Given the description of an element on the screen output the (x, y) to click on. 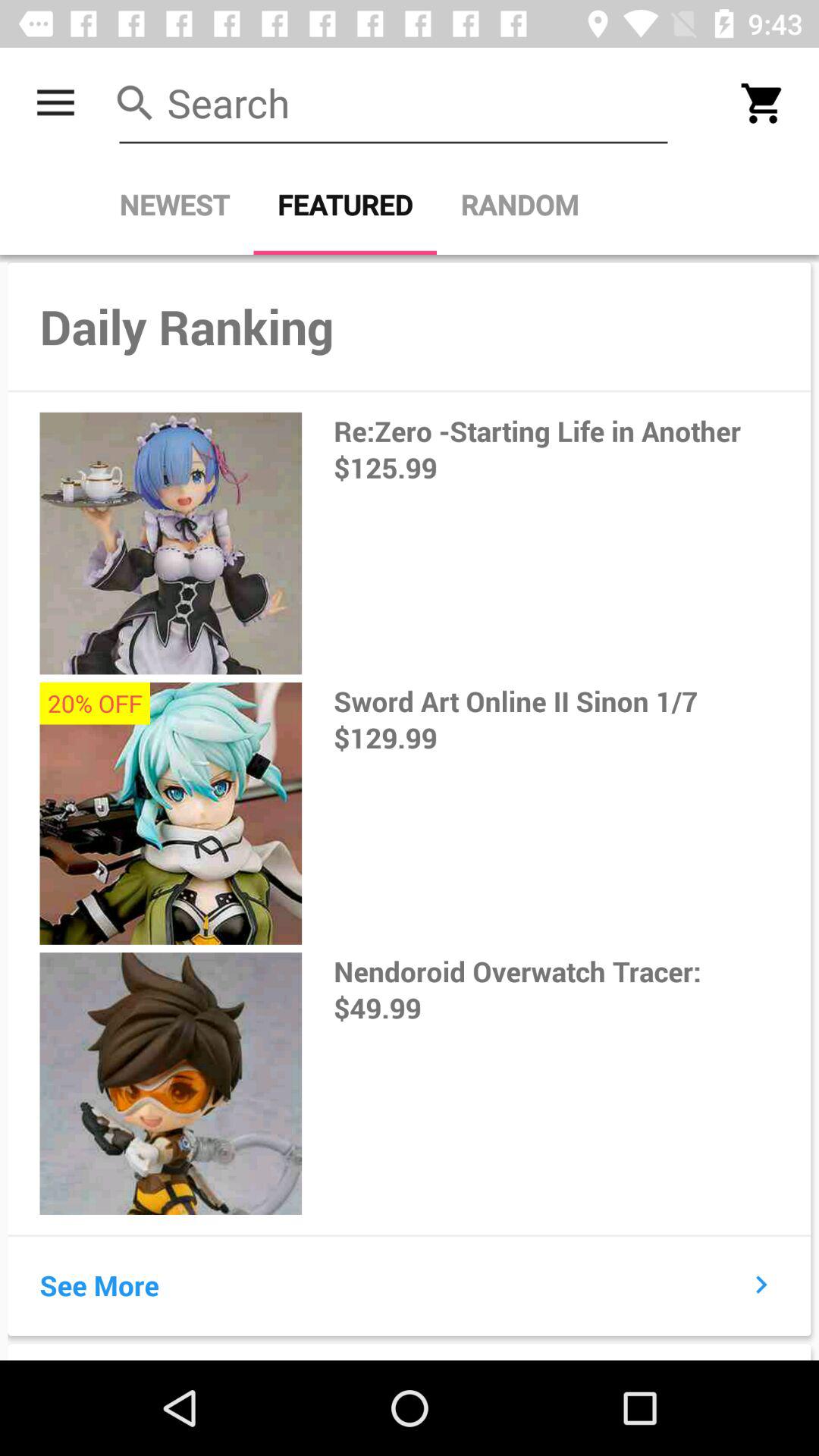
launch item above newest icon (393, 103)
